Given the description of an element on the screen output the (x, y) to click on. 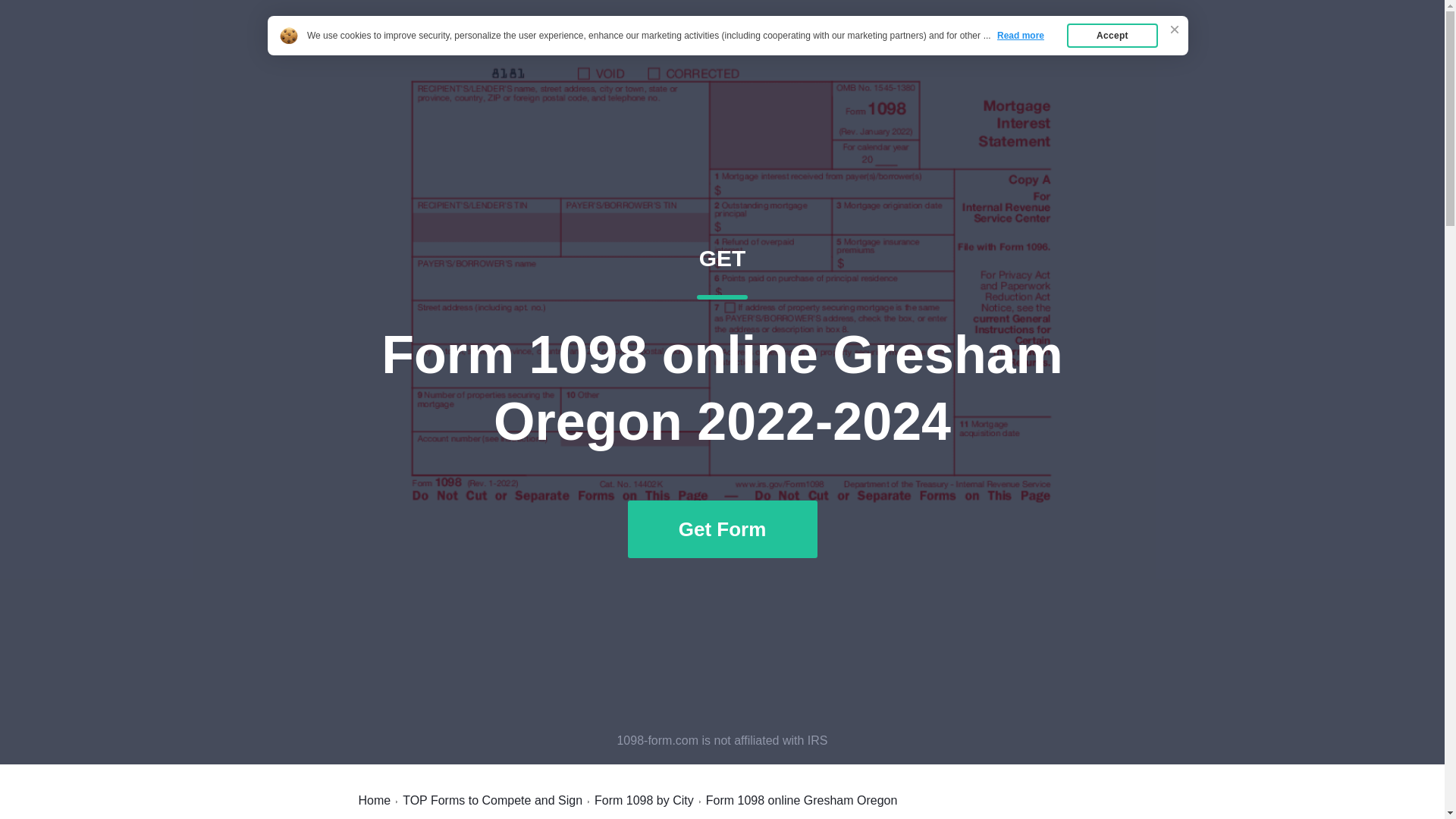
1098 Form (397, 46)
Form 1098 by City (644, 800)
TOP Forms to Compete and Sign (492, 800)
FAQ (993, 47)
Top Forms (374, 800)
Home (1062, 47)
